Given the description of an element on the screen output the (x, y) to click on. 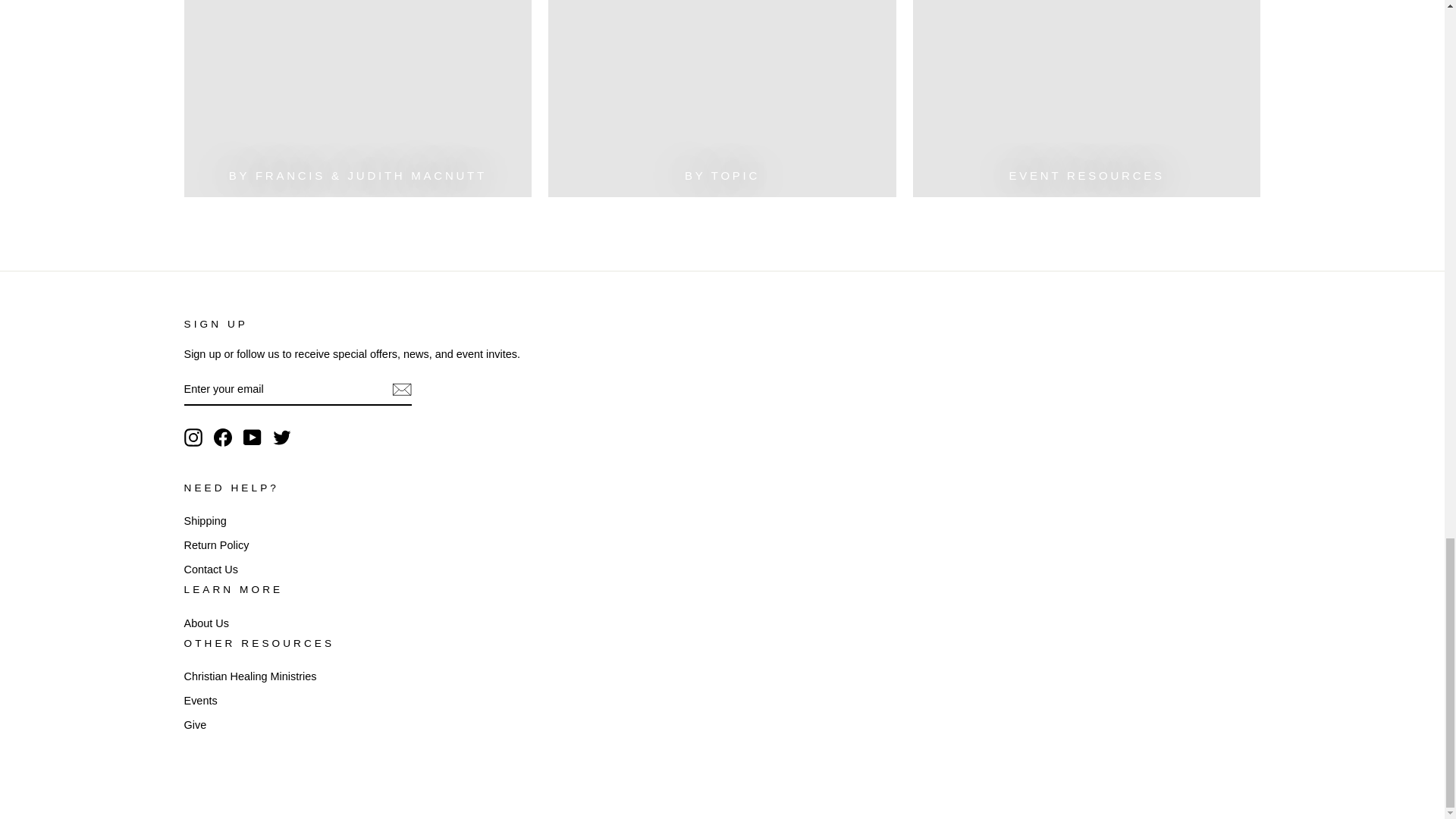
Christian Healing Ministries Bookstore on YouTube (251, 437)
icon-email (400, 389)
instagram (192, 437)
Christian Healing Ministries Bookstore on Facebook (222, 437)
Christian Healing Ministries Bookstore on Instagram (192, 437)
Christian Healing Ministries Bookstore on Twitter (282, 437)
twitter (282, 437)
